Given the description of an element on the screen output the (x, y) to click on. 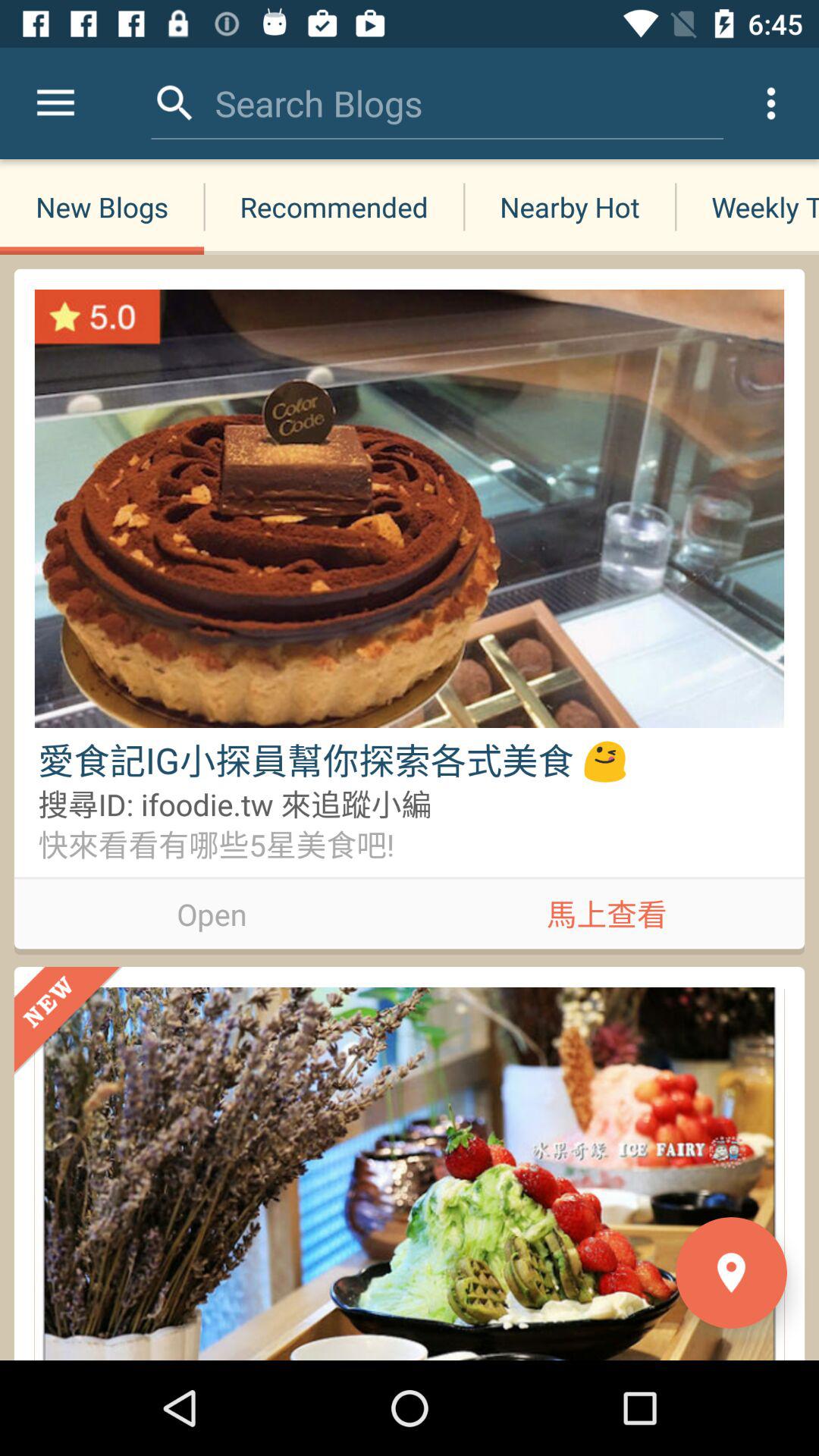
turn off icon next to weekly tops icon (569, 206)
